Given the description of an element on the screen output the (x, y) to click on. 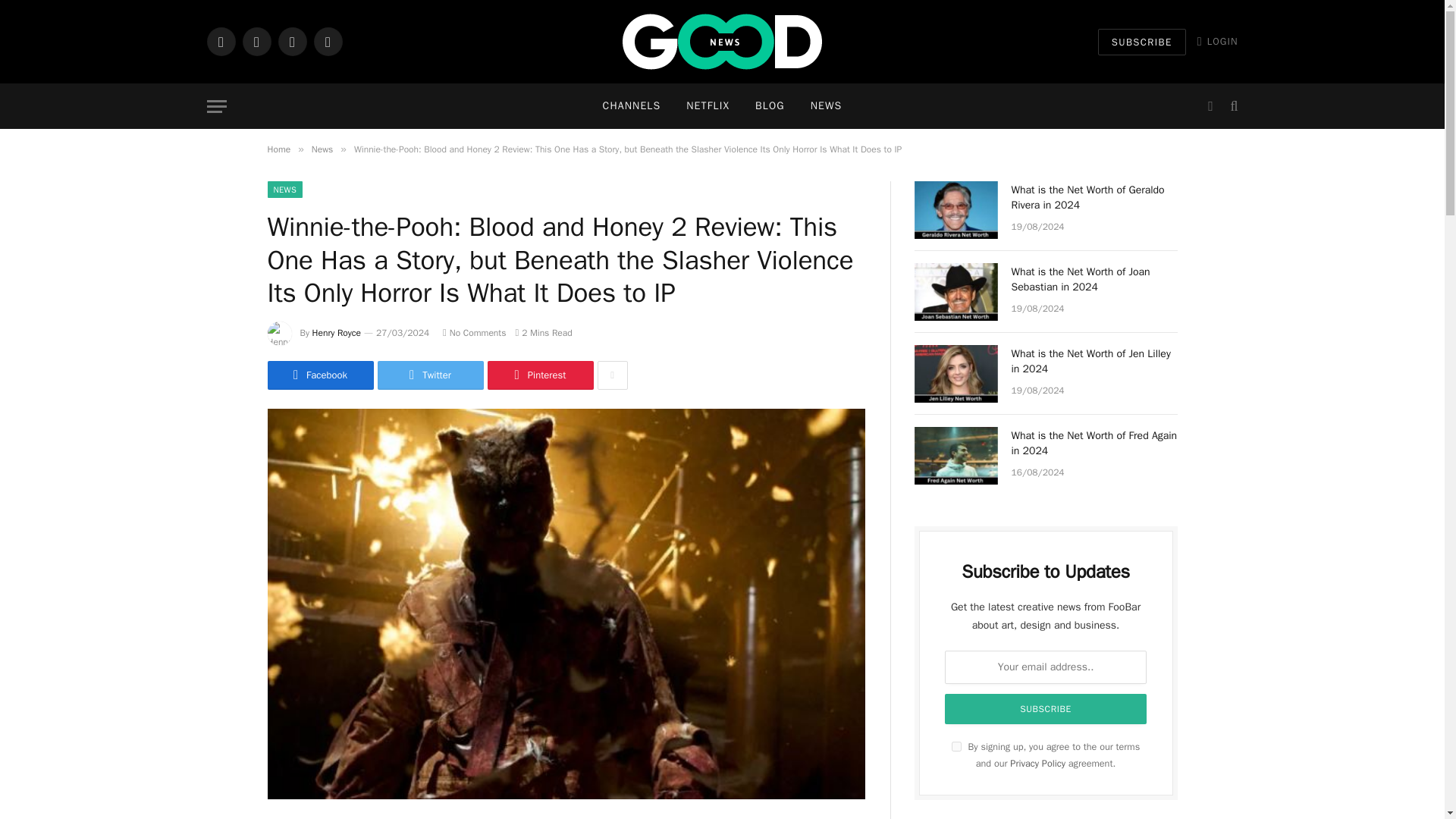
Home (277, 149)
SUBSCRIBE (1141, 41)
NEWS (284, 189)
No Comments (473, 332)
Share on Facebook (319, 375)
on (956, 746)
Henry Royce (337, 332)
LOGIN (1217, 41)
Subscribe (1045, 708)
CHANNELS (631, 105)
